Given the description of an element on the screen output the (x, y) to click on. 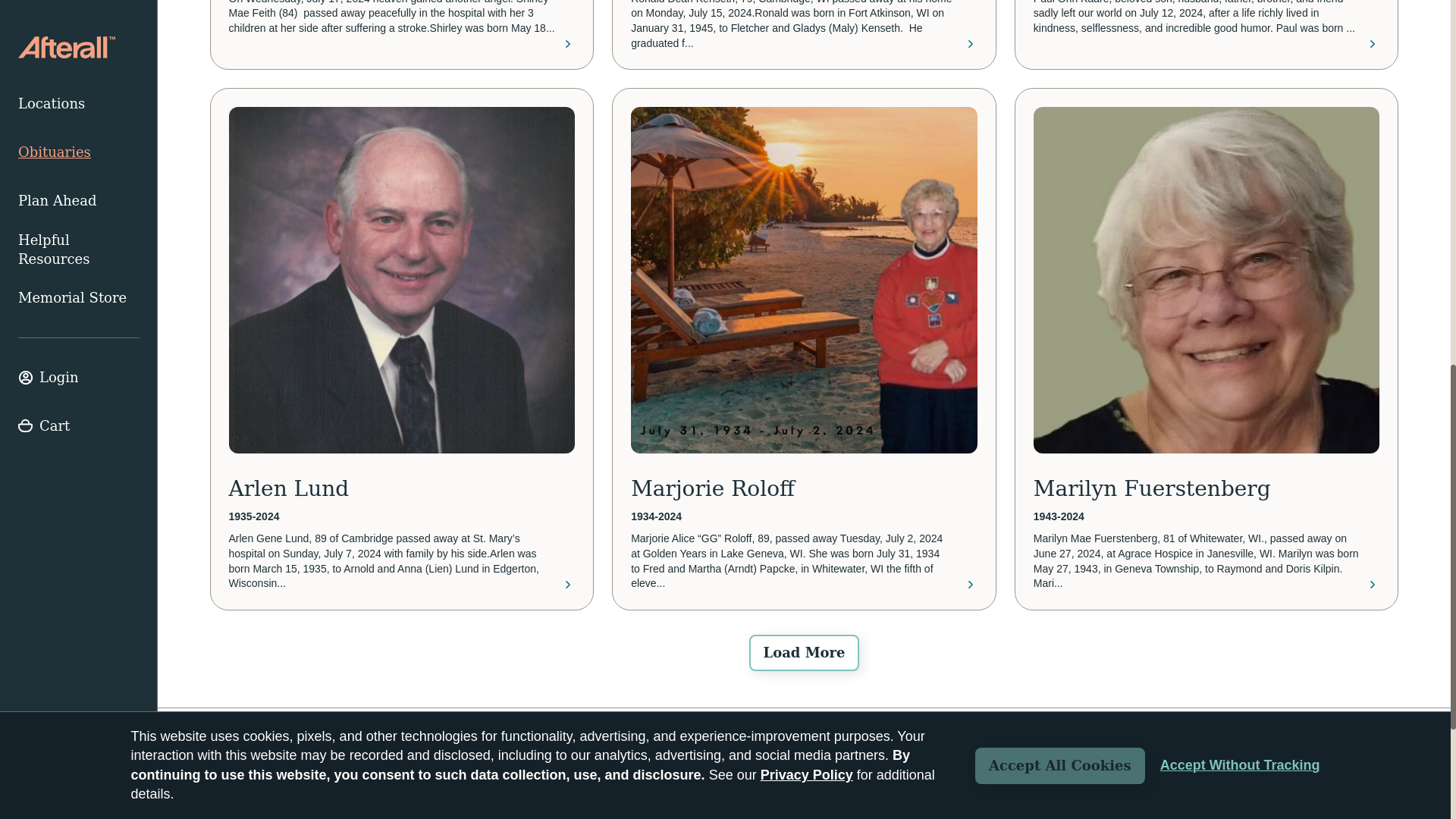
Email Newsletter (497, 810)
Sign Up (738, 811)
Load More (804, 652)
